Given the description of an element on the screen output the (x, y) to click on. 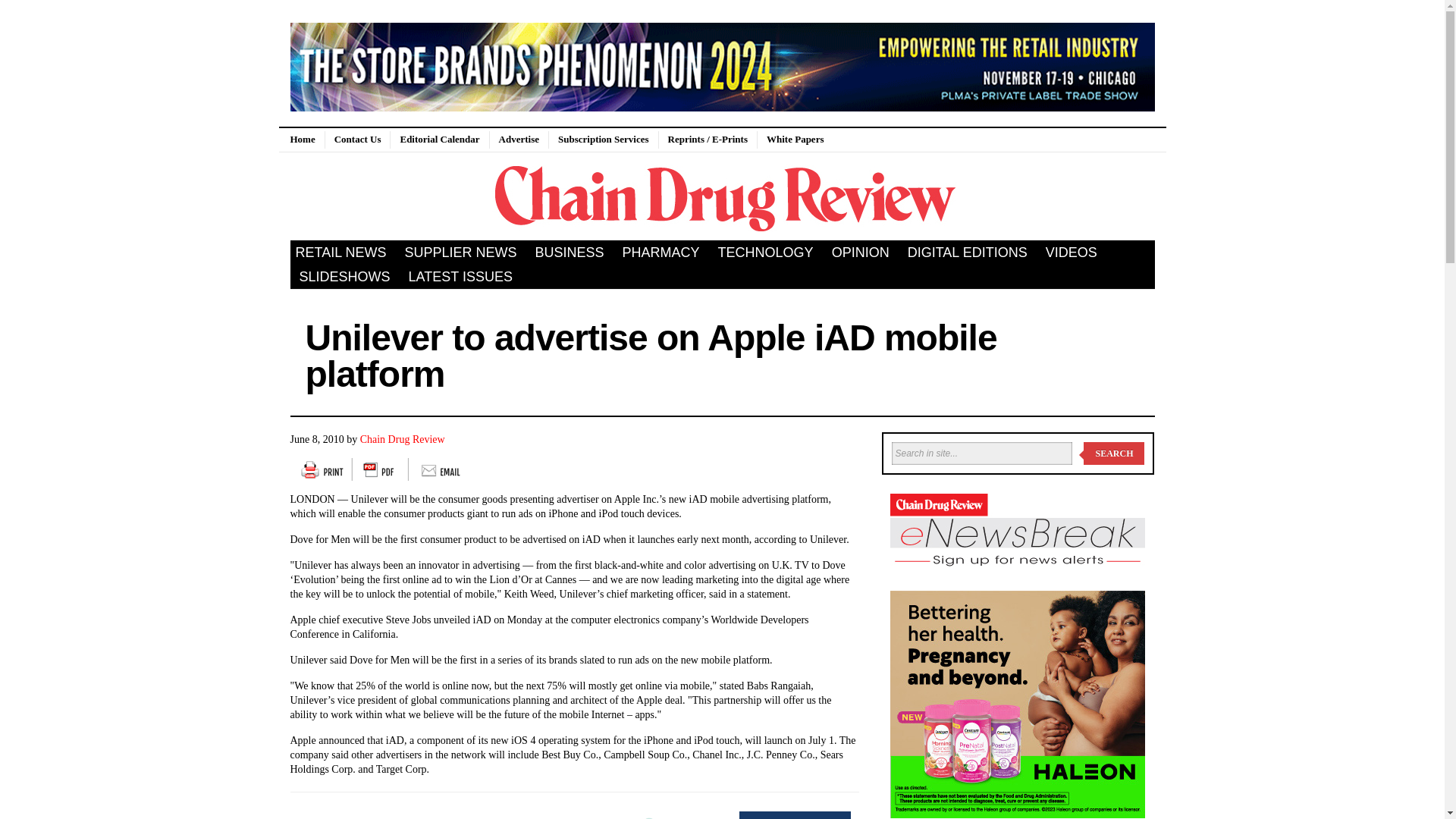
Reporter for the Chain Drug Industry (306, 139)
Home (306, 139)
Editorial Calendar (438, 139)
DIGITAL EDITIONS (967, 252)
SUPPLIER NEWS (460, 252)
Contact Us (357, 139)
White Papers (794, 139)
RETAIL NEWS (341, 252)
Subscription Services (603, 139)
OPINION (860, 252)
Posts by Chain Drug Review (402, 439)
VIDEOS (1071, 252)
TECHNOLOGY (765, 252)
Reporter for the Chain Drug Industry (721, 195)
LATEST ISSUES (459, 276)
